Given the description of an element on the screen output the (x, y) to click on. 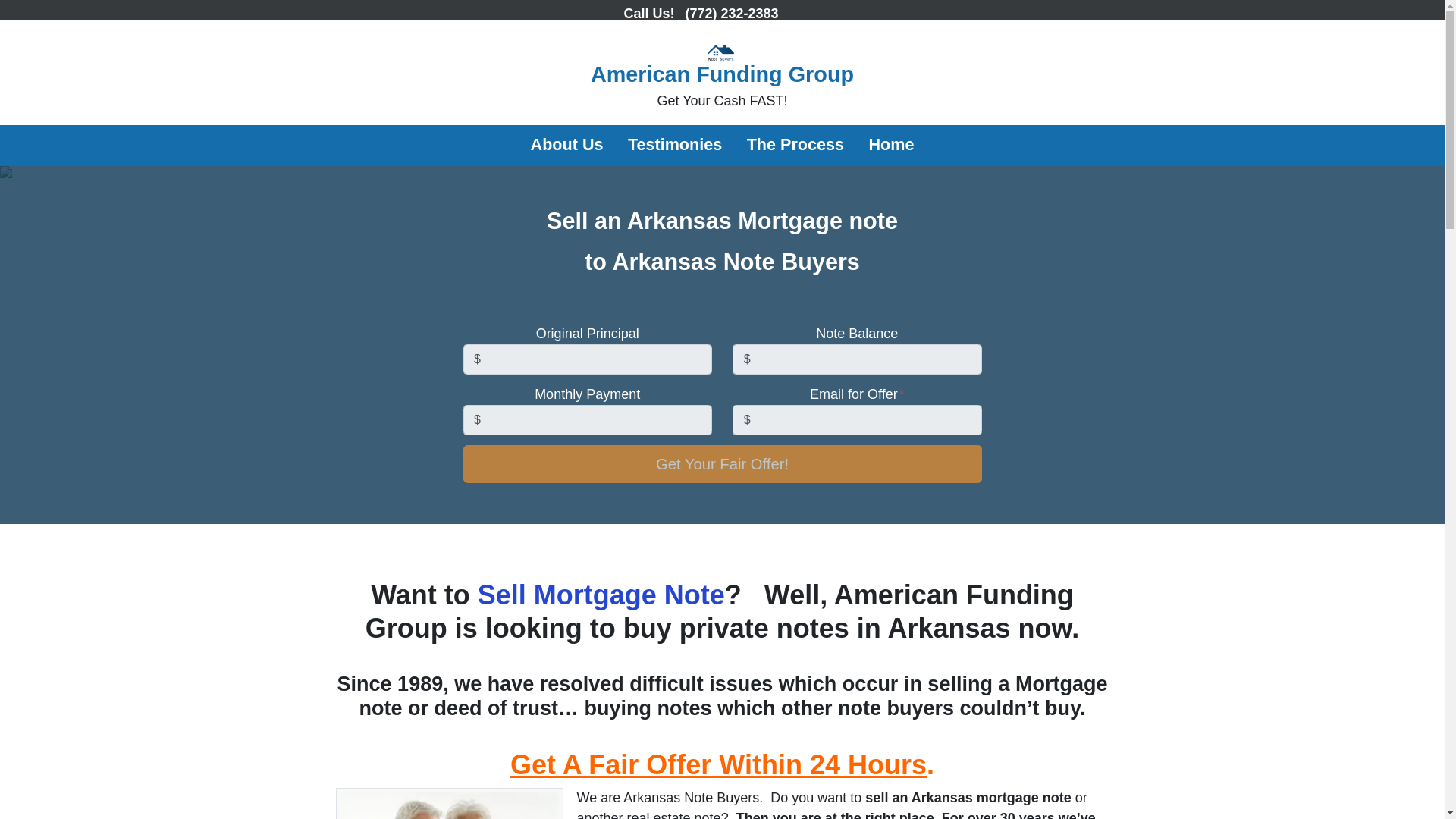
Testimonies (675, 145)
LinkedIn (813, 10)
Home (891, 145)
About Us (566, 145)
The Process (794, 145)
Home (891, 145)
Testimonies (675, 145)
The Process (794, 145)
Sell Mortgage Note (601, 594)
Get Your Fair Offer! (722, 464)
Get Your Fair Offer! (722, 77)
About Us (722, 464)
